Given the description of an element on the screen output the (x, y) to click on. 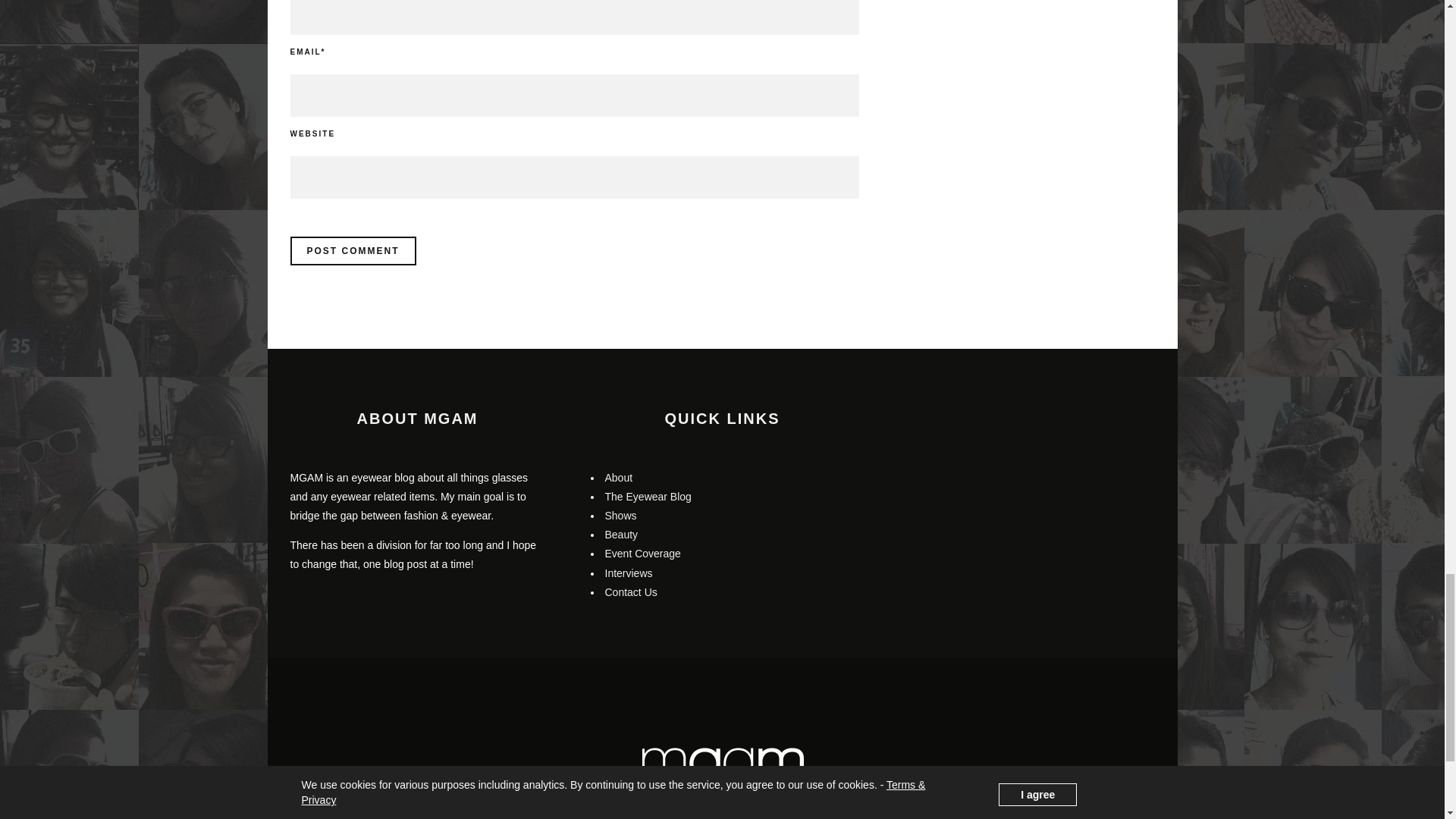
Post Comment (351, 250)
